Given the description of an element on the screen output the (x, y) to click on. 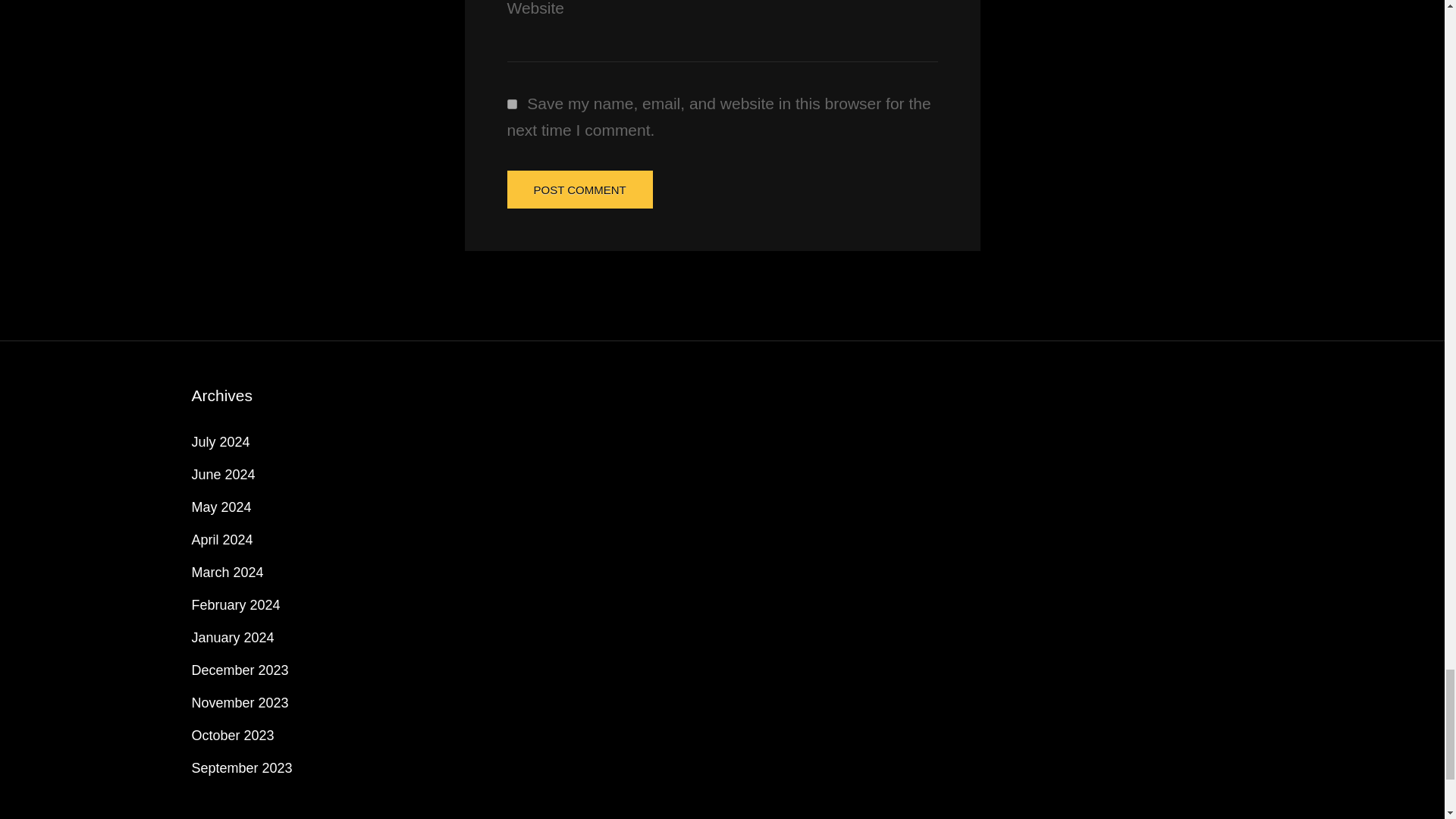
December 2023 (239, 670)
June 2024 (222, 474)
April 2024 (220, 539)
November 2023 (239, 702)
February 2024 (234, 604)
July 2024 (219, 441)
Post Comment (579, 189)
Post Comment (579, 189)
yes (511, 103)
March 2024 (226, 572)
October 2023 (231, 735)
May 2024 (220, 507)
January 2024 (231, 637)
September 2023 (241, 767)
